Given the description of an element on the screen output the (x, y) to click on. 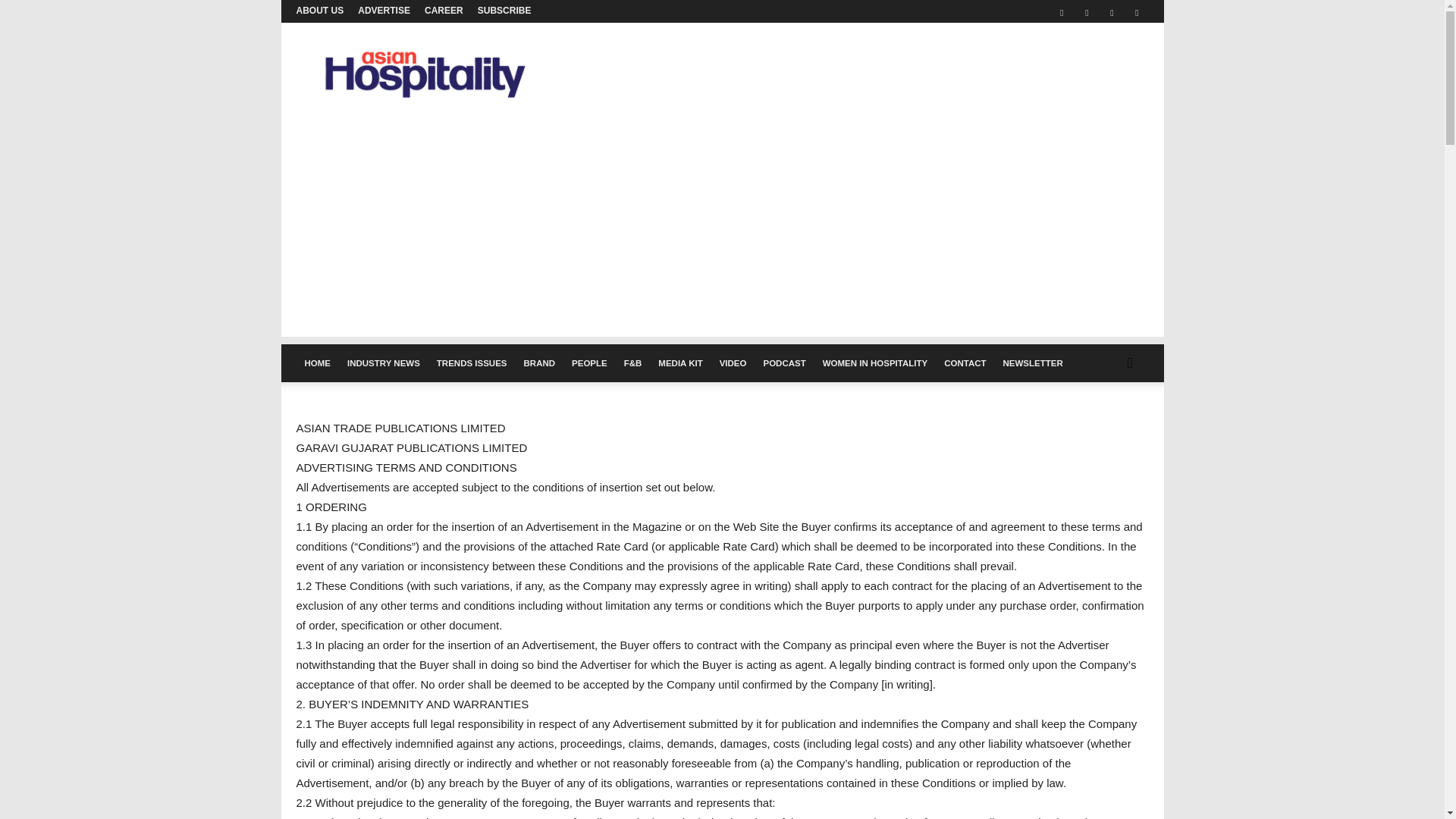
Linkedin (1086, 11)
INDUSTRY NEWS (383, 362)
Facebook (1061, 11)
Youtube (1136, 11)
SUBSCRIBE (504, 9)
HOME (317, 362)
Asian Hospitality (424, 101)
ABOUT US (319, 9)
ADVERTISE (384, 9)
TRENDS ISSUES (471, 362)
CAREER (444, 9)
Twitter (1111, 11)
BRAND (539, 362)
PEOPLE (589, 362)
